Given the description of an element on the screen output the (x, y) to click on. 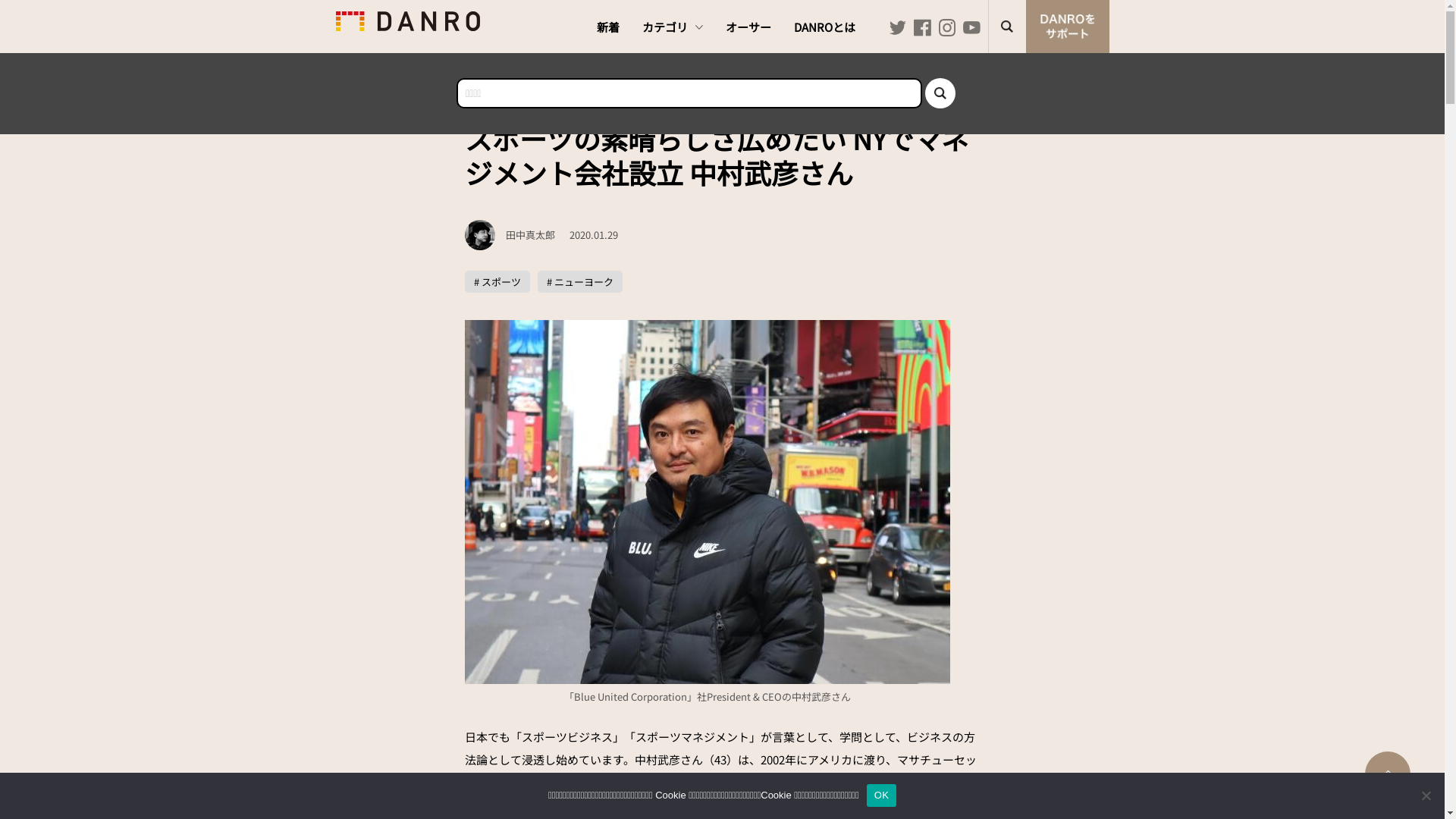
HOME Element type: text (486, 90)
OK Element type: text (881, 795)
Search Element type: text (940, 93)
